Given the description of an element on the screen output the (x, y) to click on. 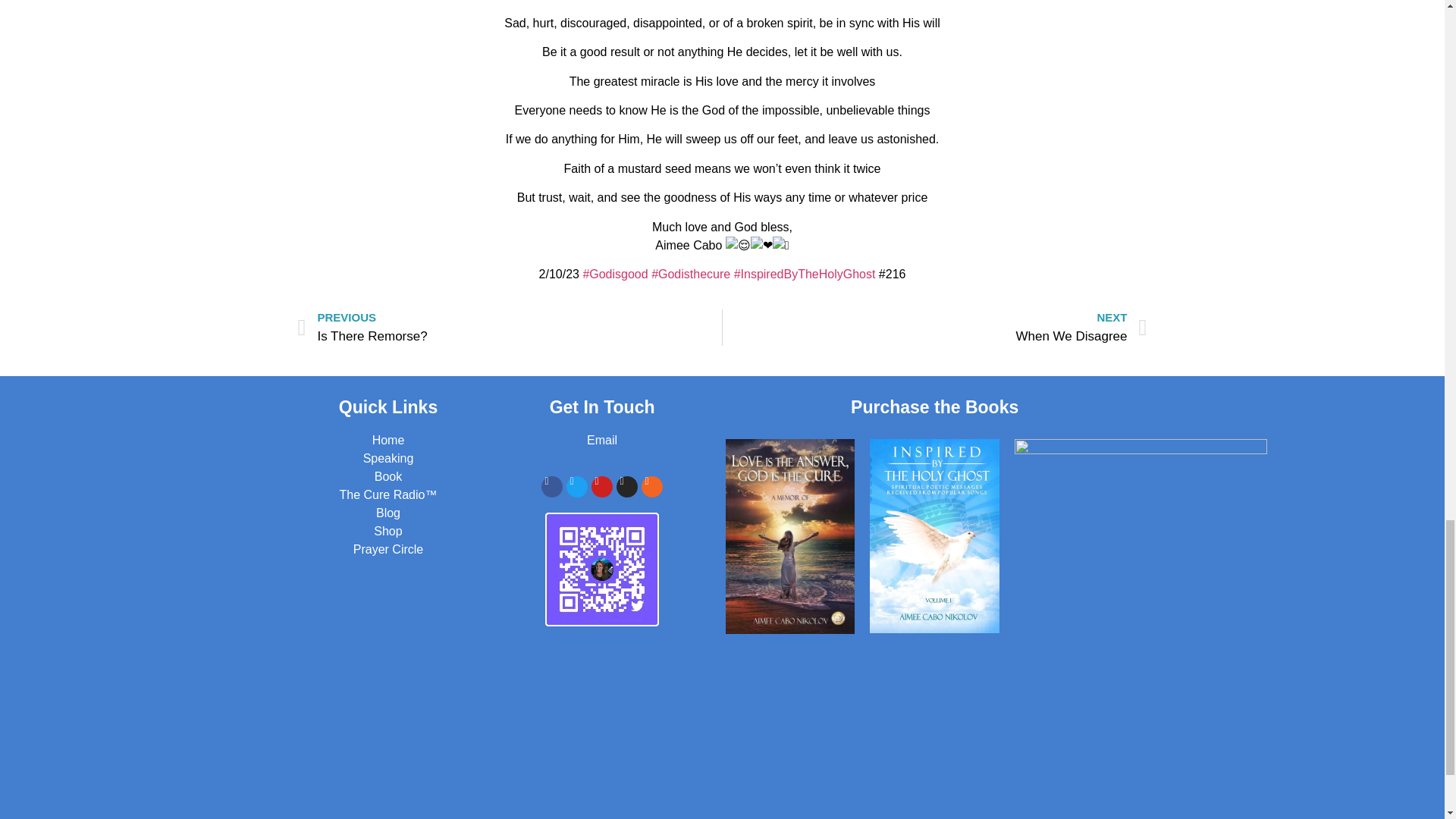
Home (934, 327)
